Given the description of an element on the screen output the (x, y) to click on. 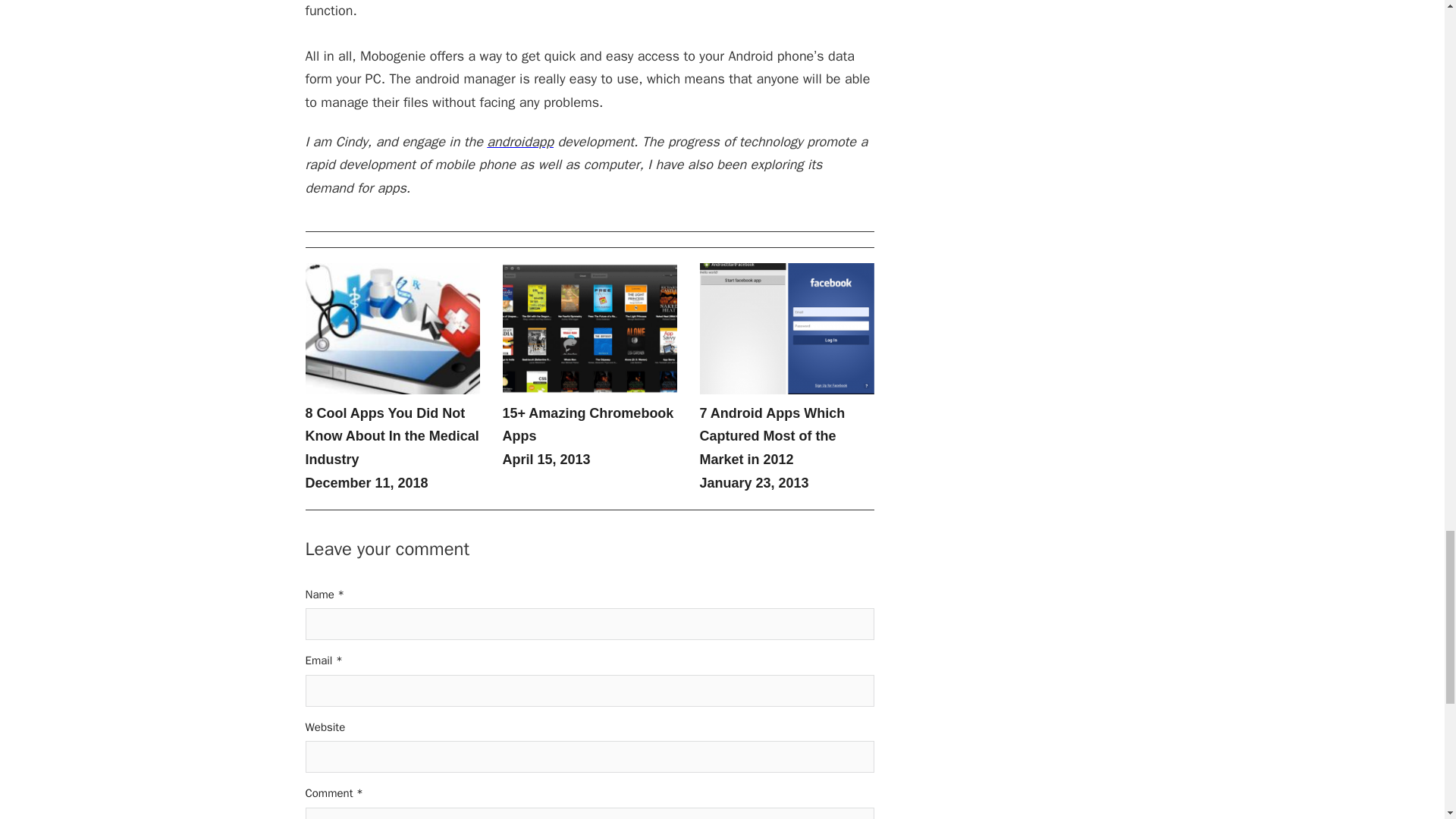
androidapp (519, 141)
7 Android Apps Which Captured Most of the Market in 2012 (771, 435)
8 Cool Apps You Did Not Know About In the Medical Industry (391, 435)
